Given the description of an element on the screen output the (x, y) to click on. 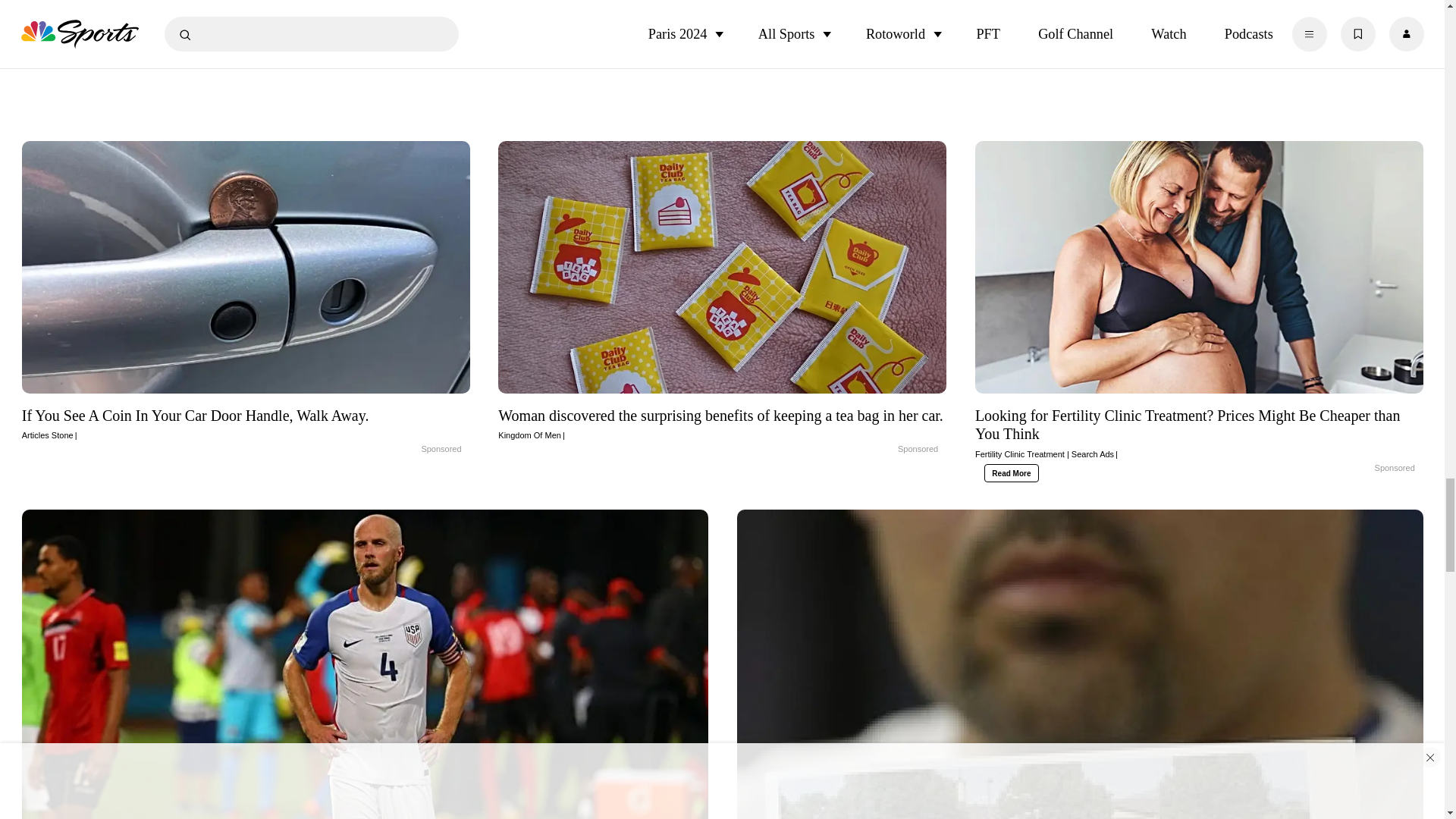
If You See A Coin In Your Car Door Handle, Walk Away. (404, 450)
If You See A Coin In Your Car Door Handle, Walk Away. (245, 266)
If You See A Coin In Your Car Door Handle, Walk Away. (245, 423)
